Given the description of an element on the screen output the (x, y) to click on. 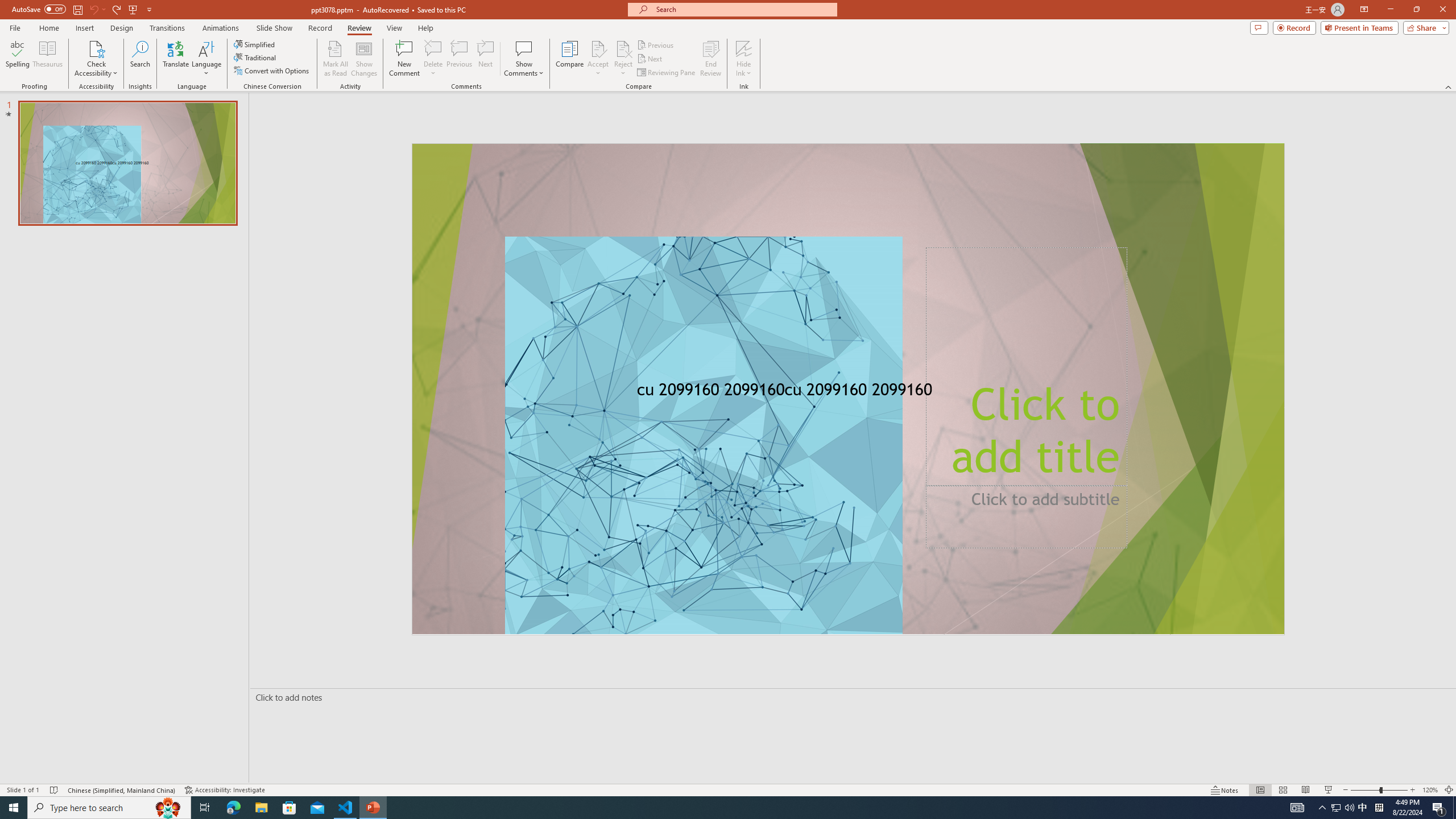
End Review (710, 58)
Accept (598, 58)
Zoom 120% (1430, 790)
